Given the description of an element on the screen output the (x, y) to click on. 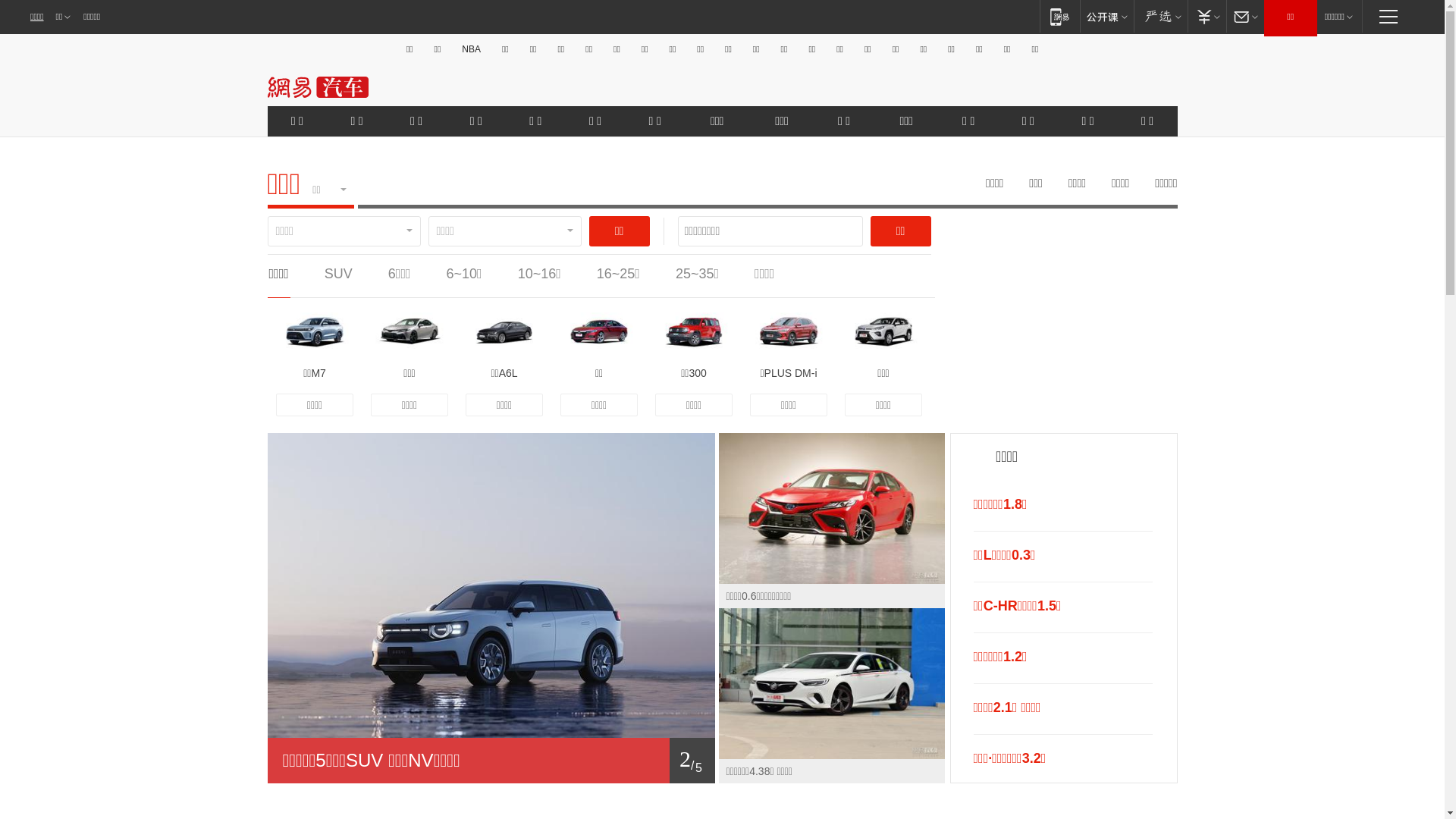
NBA Element type: text (471, 48)
1/ 5 Element type: text (490, 760)
SUV Element type: text (338, 273)
